Given the description of an element on the screen output the (x, y) to click on. 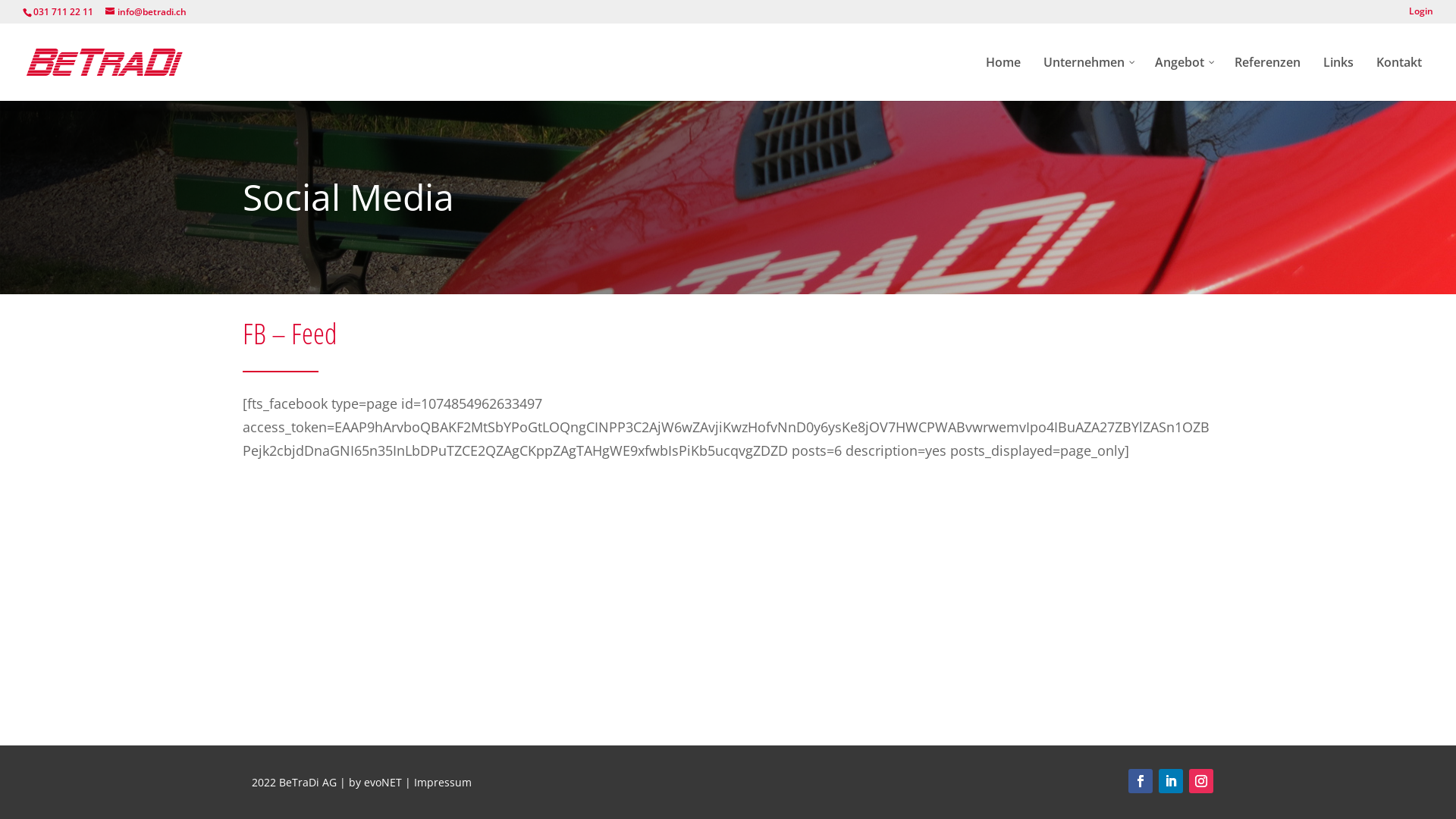
Unternehmen Element type: text (1087, 76)
Home Element type: text (1003, 76)
Kontakt Element type: text (1399, 76)
Links Element type: text (1338, 76)
Folge auf Instagram Element type: hover (1201, 780)
Angebot Element type: text (1183, 76)
evoNET Element type: text (382, 782)
Login Element type: text (1420, 14)
info@betradi.ch Element type: text (145, 11)
Folge auf LinkedIn Element type: hover (1170, 780)
Folge auf Facebook Element type: hover (1140, 780)
Referenzen Element type: text (1267, 76)
Impressum Element type: text (442, 782)
